Given the description of an element on the screen output the (x, y) to click on. 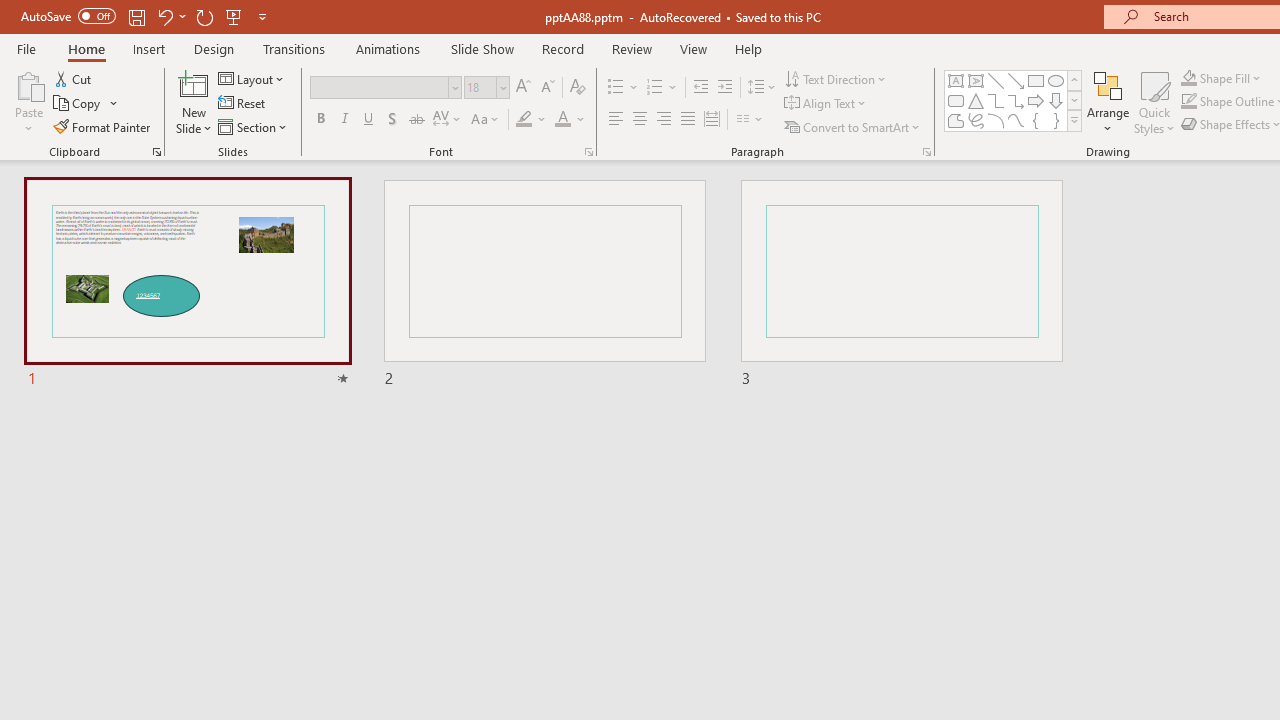
Clear Formatting (577, 87)
Align Left (616, 119)
Arc (995, 120)
Freeform: Shape (955, 120)
Shapes (1074, 120)
Left Brace (1035, 120)
Arrow: Right (1035, 100)
Text Direction (836, 78)
Increase Indent (725, 87)
Text Highlight Color Yellow (524, 119)
